Given the description of an element on the screen output the (x, y) to click on. 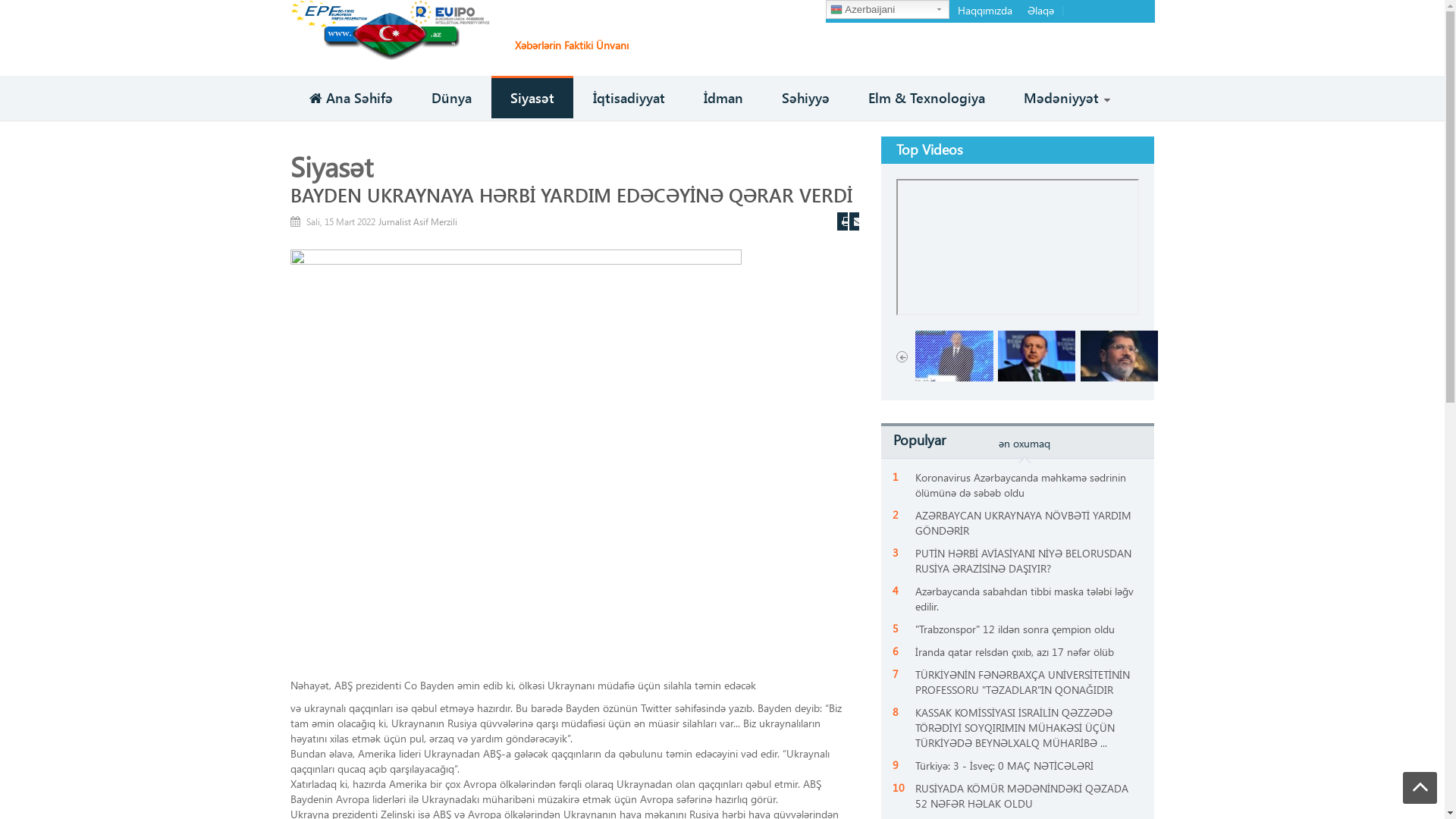
Print Element type: text (842, 221)
Elm & Texnologiya Element type: text (926, 97)
Email Element type: text (854, 221)
Azerbaijani Element type: text (887, 9)
TRTAJANS Element type: hover (389, 28)
